Given the description of an element on the screen output the (x, y) to click on. 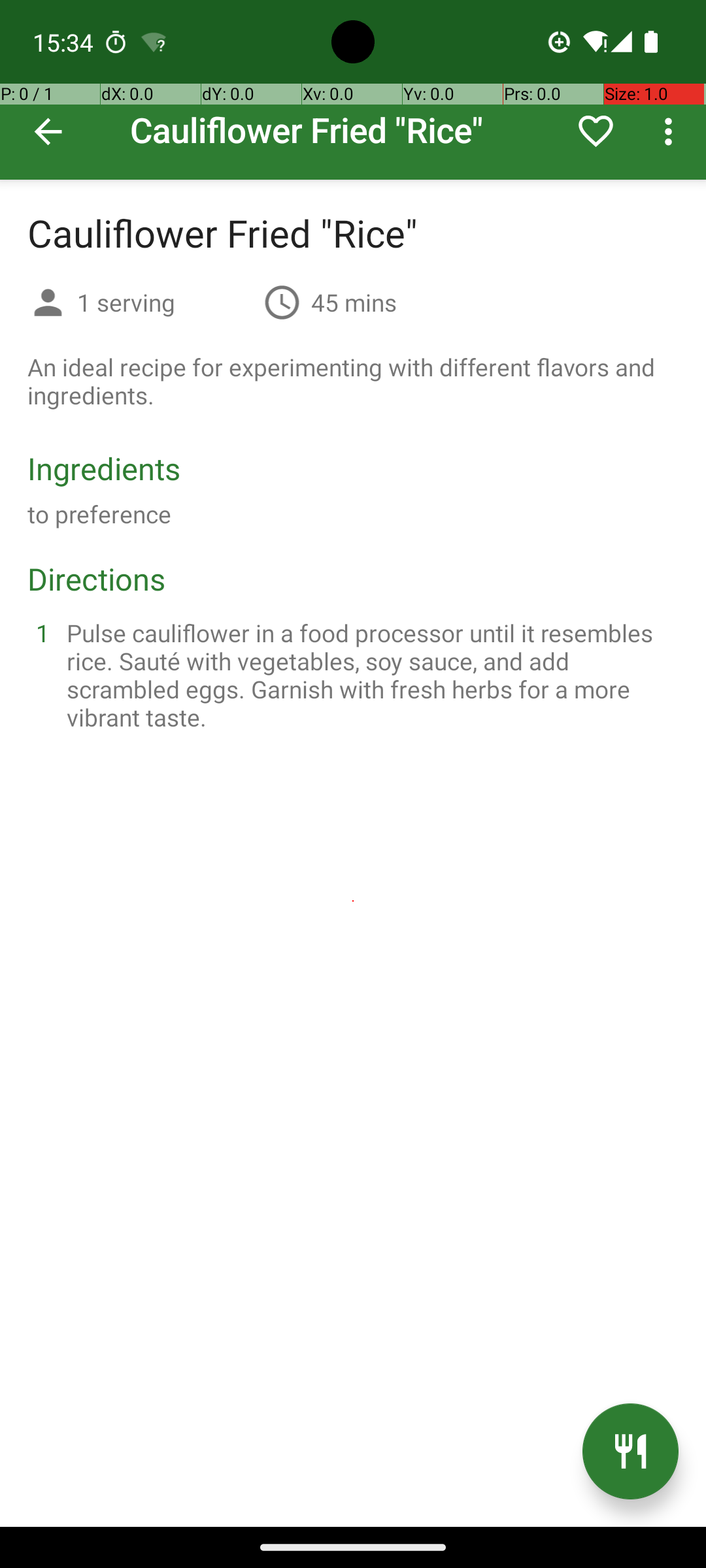
Pulse cauliflower in a food processor until it resembles rice. Sauté with vegetables, soy sauce, and add scrambled eggs. Garnish with fresh herbs for a more vibrant taste. Element type: android.widget.TextView (368, 674)
